Given the description of an element on the screen output the (x, y) to click on. 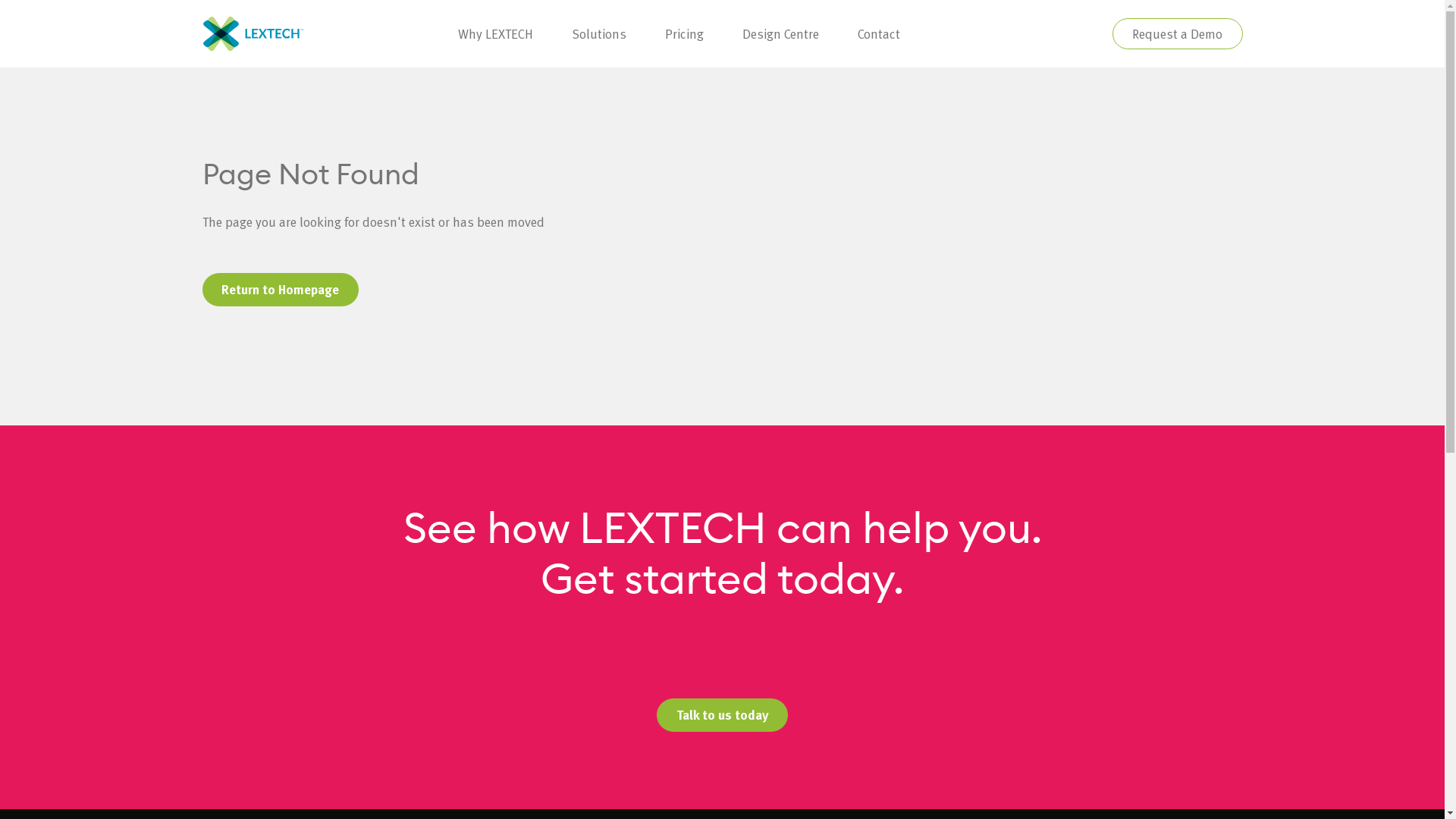
Return to Homepage Element type: text (279, 289)
Talk to us today Element type: text (721, 714)
Why LEXTECH Element type: text (495, 33)
Pricing Element type: text (683, 33)
Solutions Element type: text (598, 33)
Request a Demo Element type: text (1176, 33)
Contact Element type: text (878, 33)
Design Centre Element type: text (779, 33)
